Given the description of an element on the screen output the (x, y) to click on. 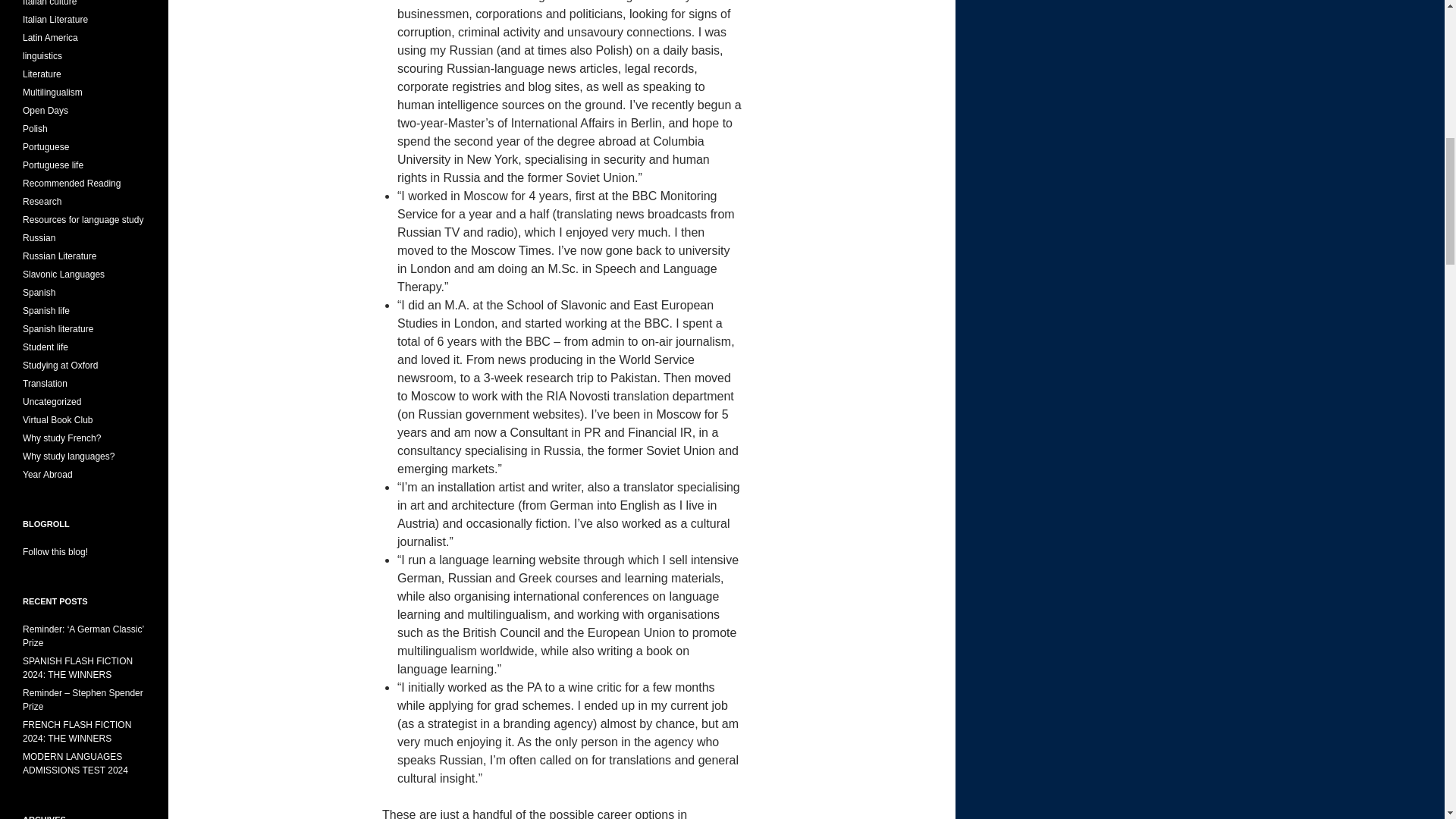
Italian culture (50, 3)
Receive an email alert for new posts on the blog  (55, 552)
